Given the description of an element on the screen output the (x, y) to click on. 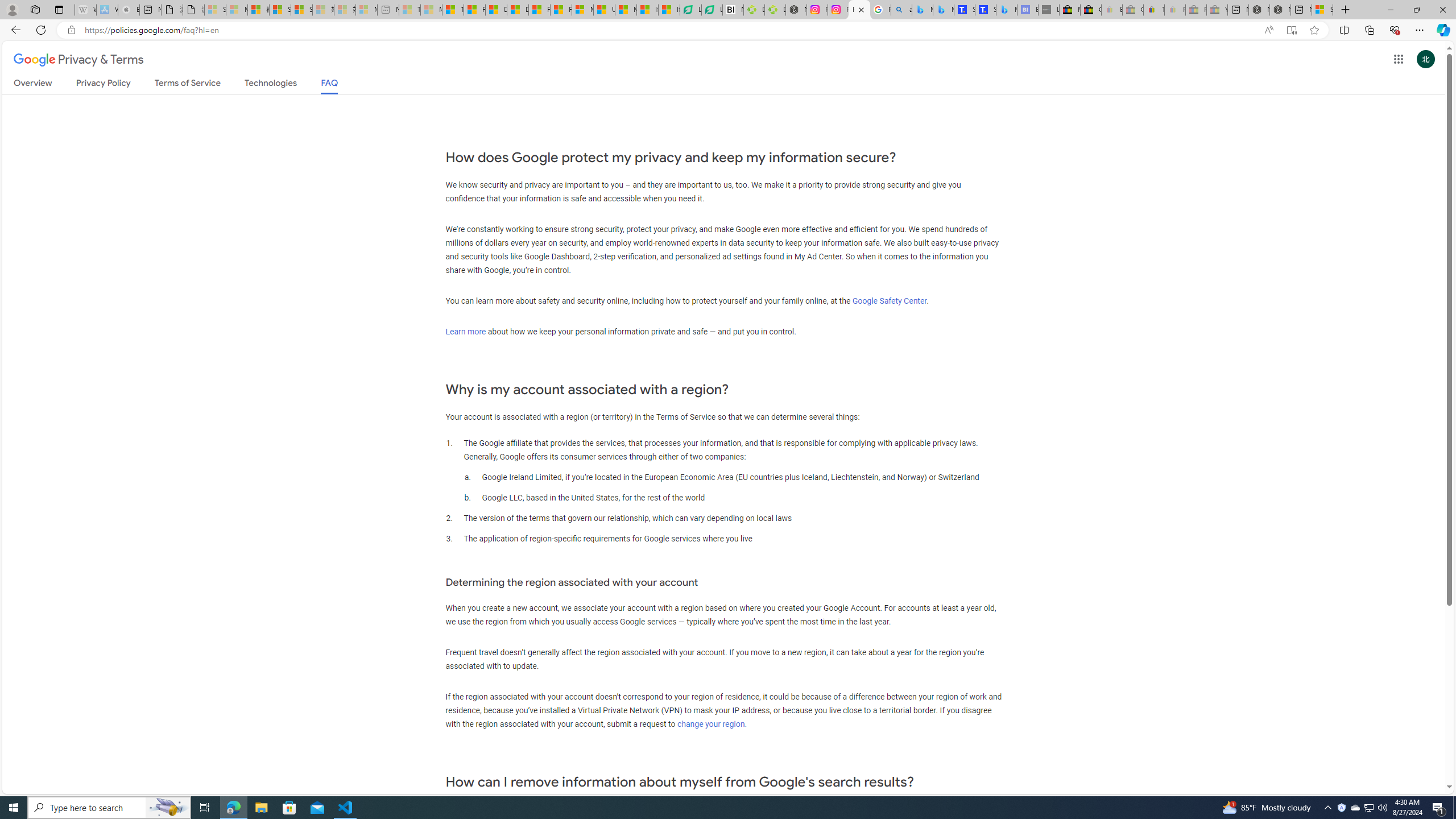
US Heat Deaths Soared To Record High Last Year (604, 9)
Google apps (1398, 58)
Foo BAR | Trusted Community Engagement and Contributions (561, 9)
Terms of Service (187, 84)
